Given the description of an element on the screen output the (x, y) to click on. 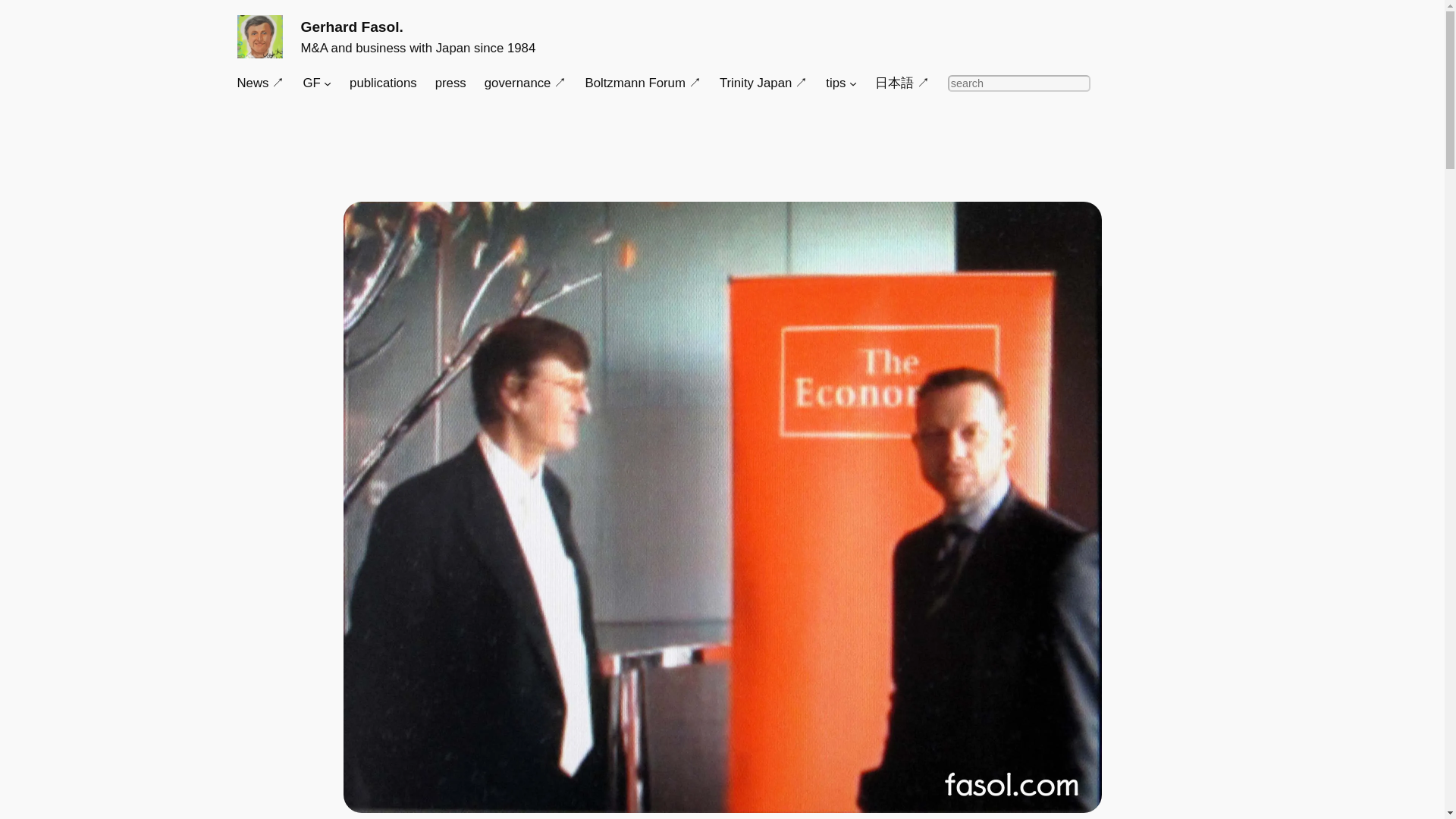
governance (525, 83)
News (259, 83)
press (450, 83)
Trinity Japan (763, 83)
Gerhard Fasol. (351, 26)
tips (835, 83)
Boltzmann Forum (642, 83)
publications (382, 83)
